Given the description of an element on the screen output the (x, y) to click on. 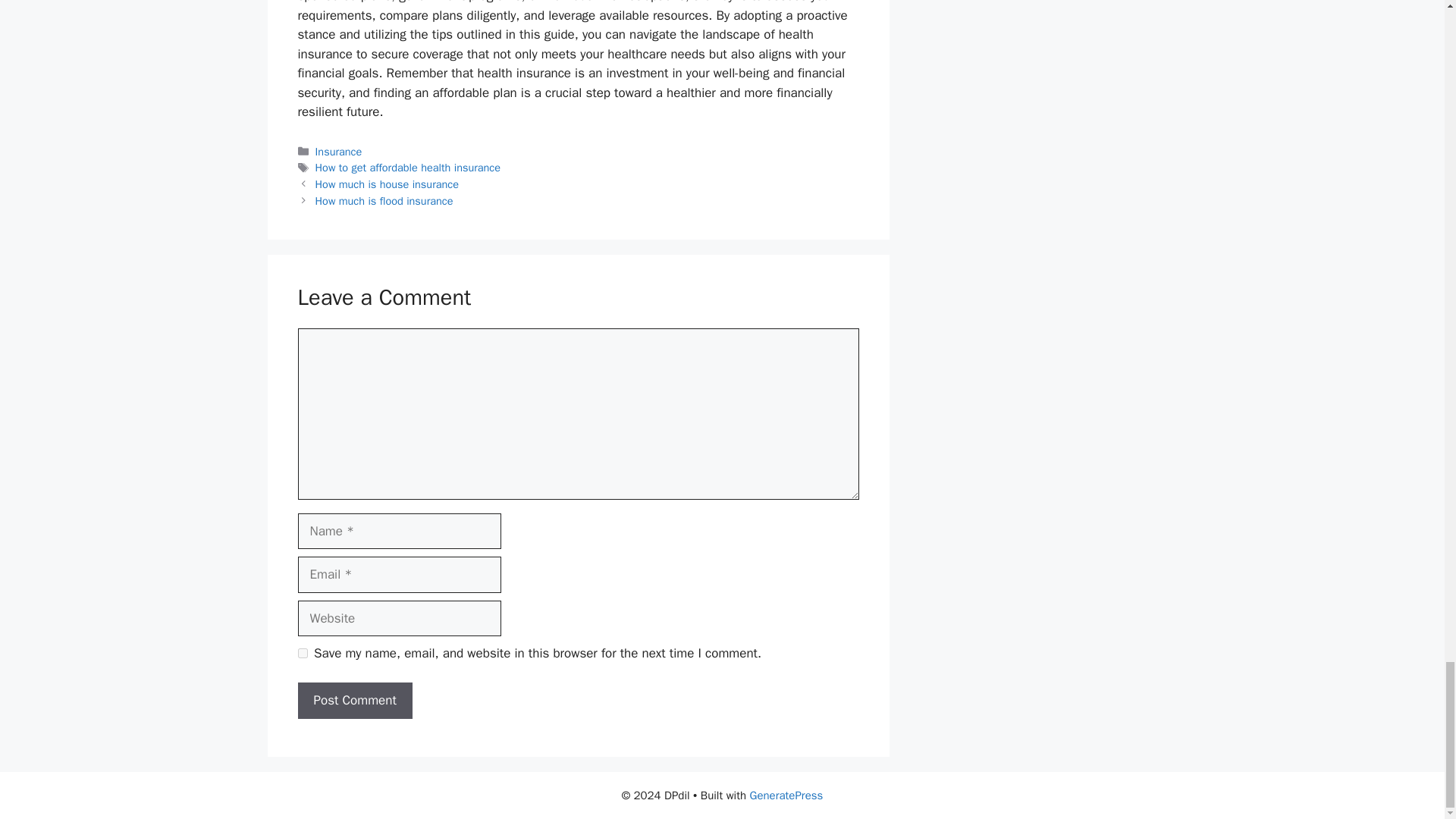
How much is flood insurance (383, 201)
Insurance (338, 151)
How much is house insurance (386, 183)
How to get affordable health insurance (407, 167)
Post Comment (354, 700)
Post Comment (354, 700)
GeneratePress (786, 795)
yes (302, 653)
